Given the description of an element on the screen output the (x, y) to click on. 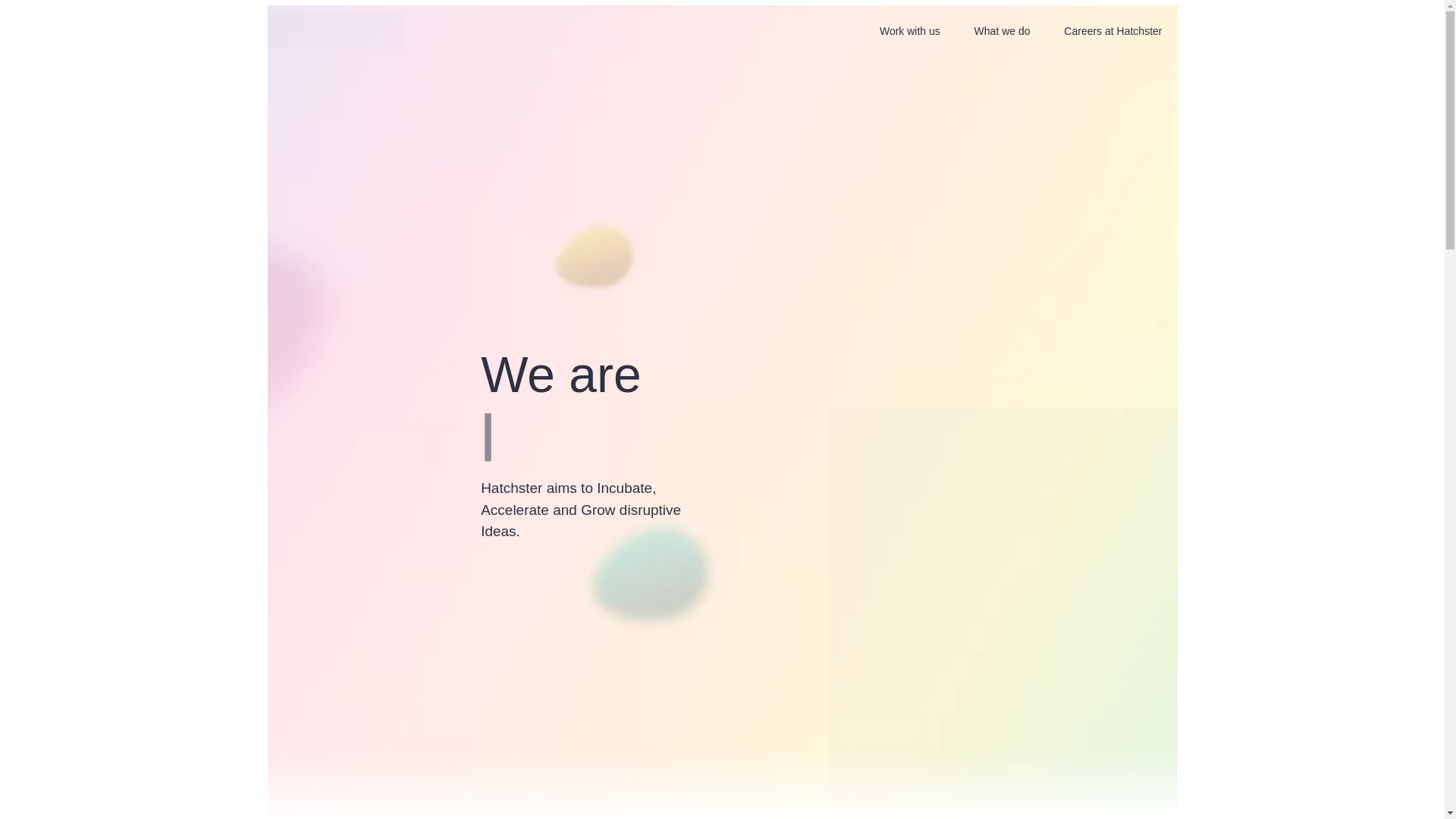
Work with us (909, 31)
What we do (1002, 31)
Careers at Hatchster (1113, 31)
